Given the description of an element on the screen output the (x, y) to click on. 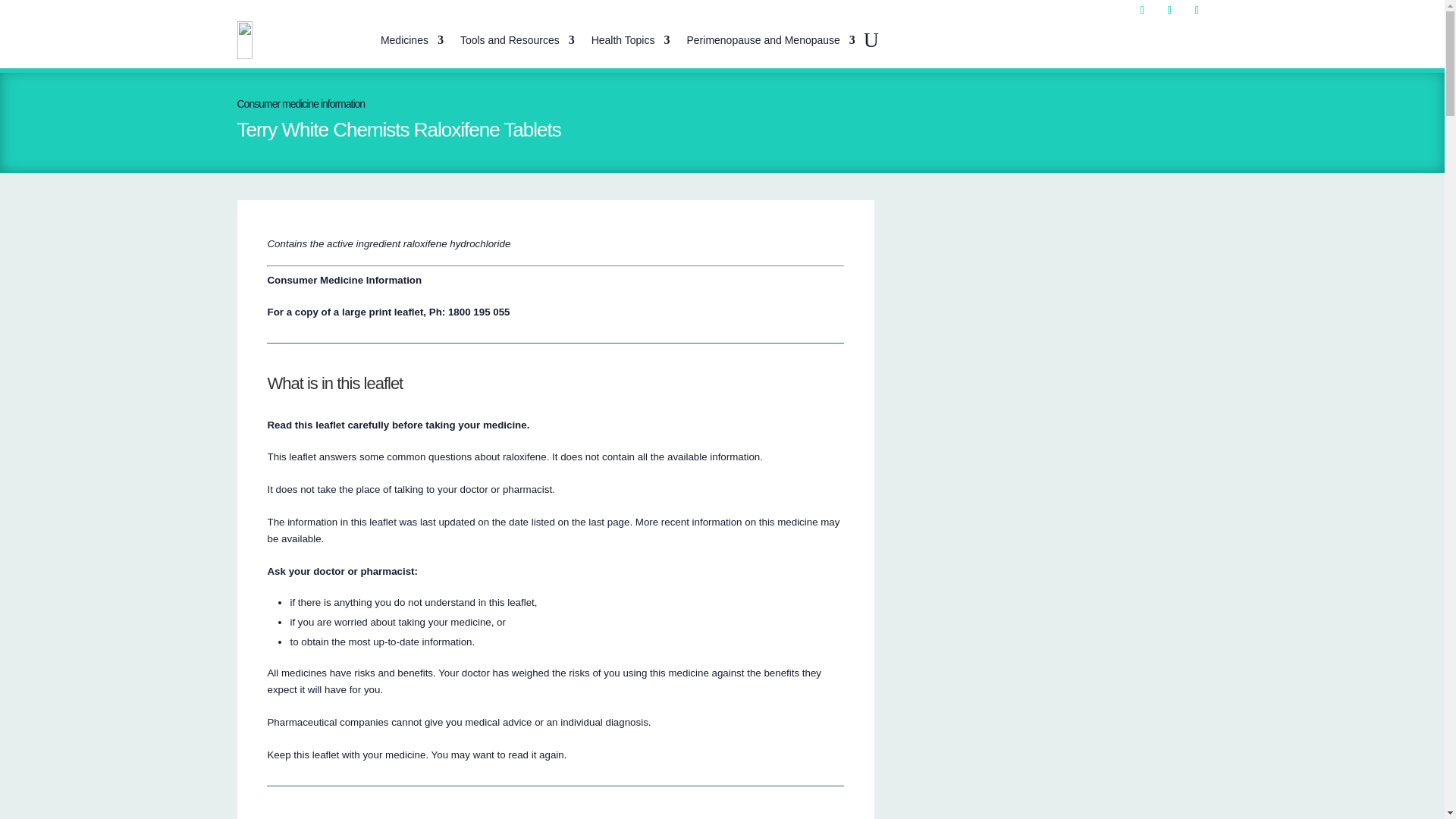
Perimenopause and Menopause (769, 39)
Follow on TikTok (1196, 10)
Follow on Instagram (1168, 10)
Medicines (412, 39)
Tools and Resources (517, 39)
Follow on Facebook (1142, 10)
Health Topics (630, 39)
